Given the description of an element on the screen output the (x, y) to click on. 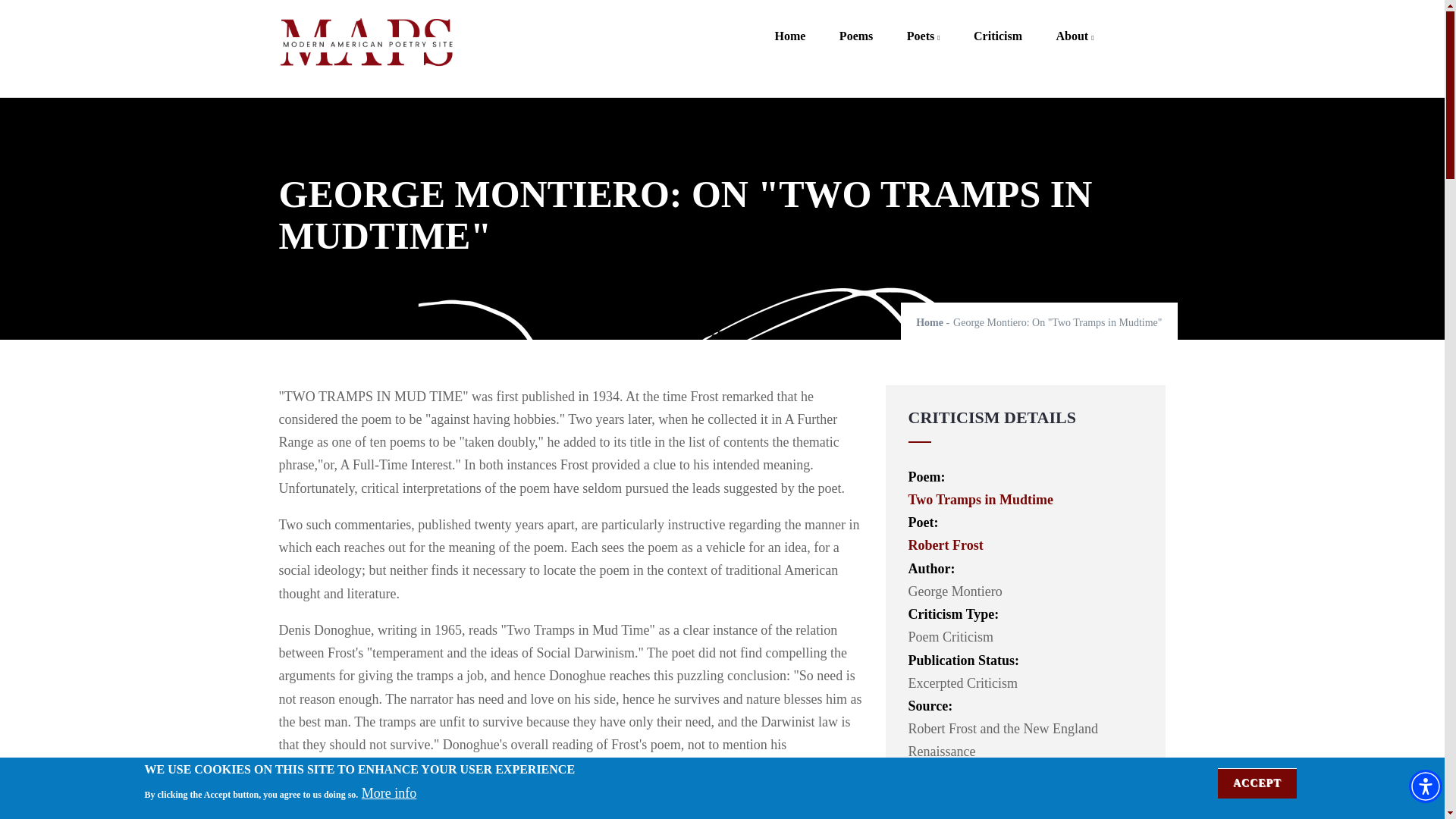
Robert Frost (946, 544)
Home (365, 44)
Two Tramps in Mudtime (981, 499)
Home (929, 322)
More info (388, 793)
Poets (923, 25)
ACCEPT (1257, 783)
Home (789, 25)
Criticism (997, 25)
